Given the description of an element on the screen output the (x, y) to click on. 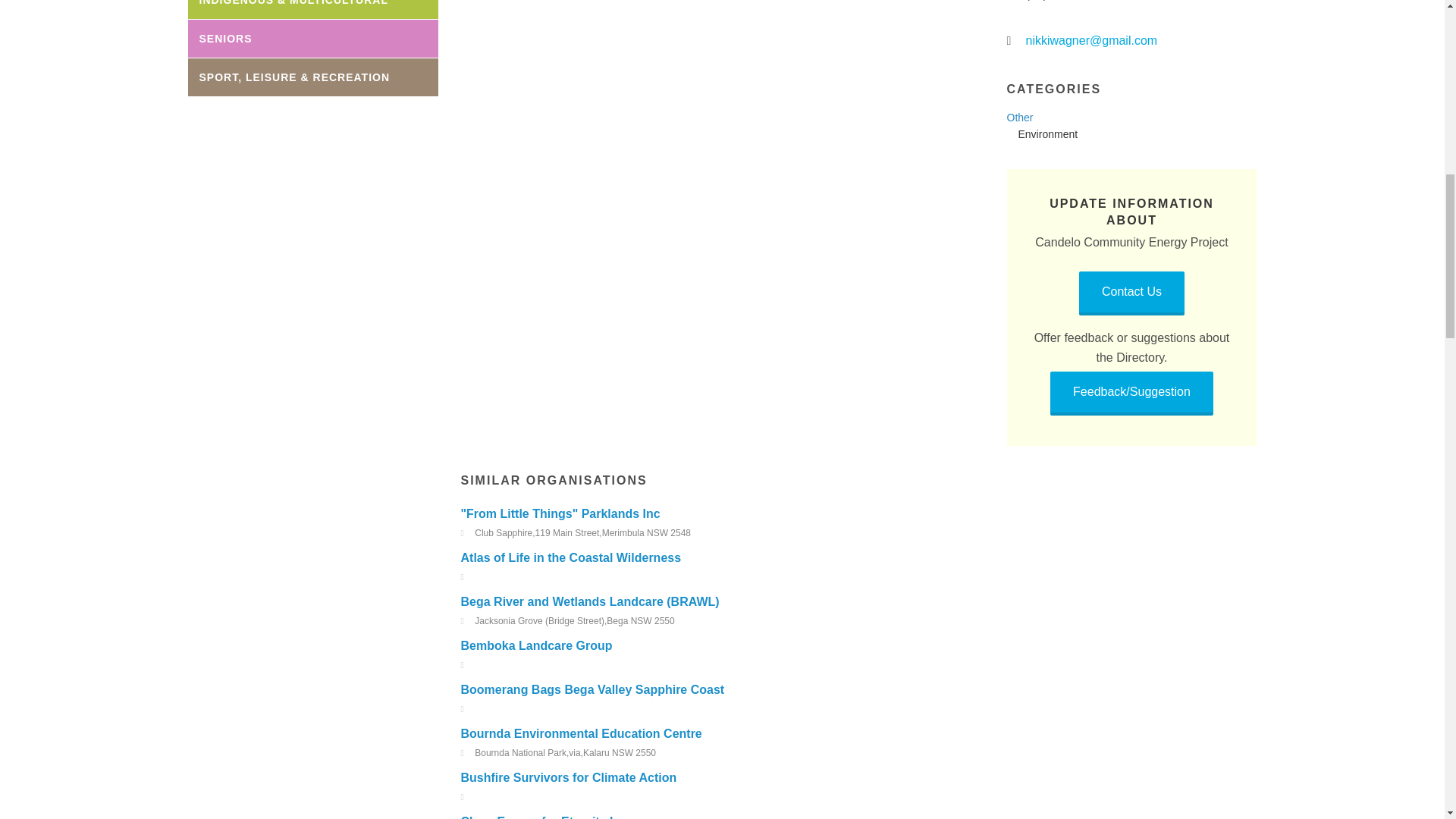
email (1012, 40)
